Given the description of an element on the screen output the (x, y) to click on. 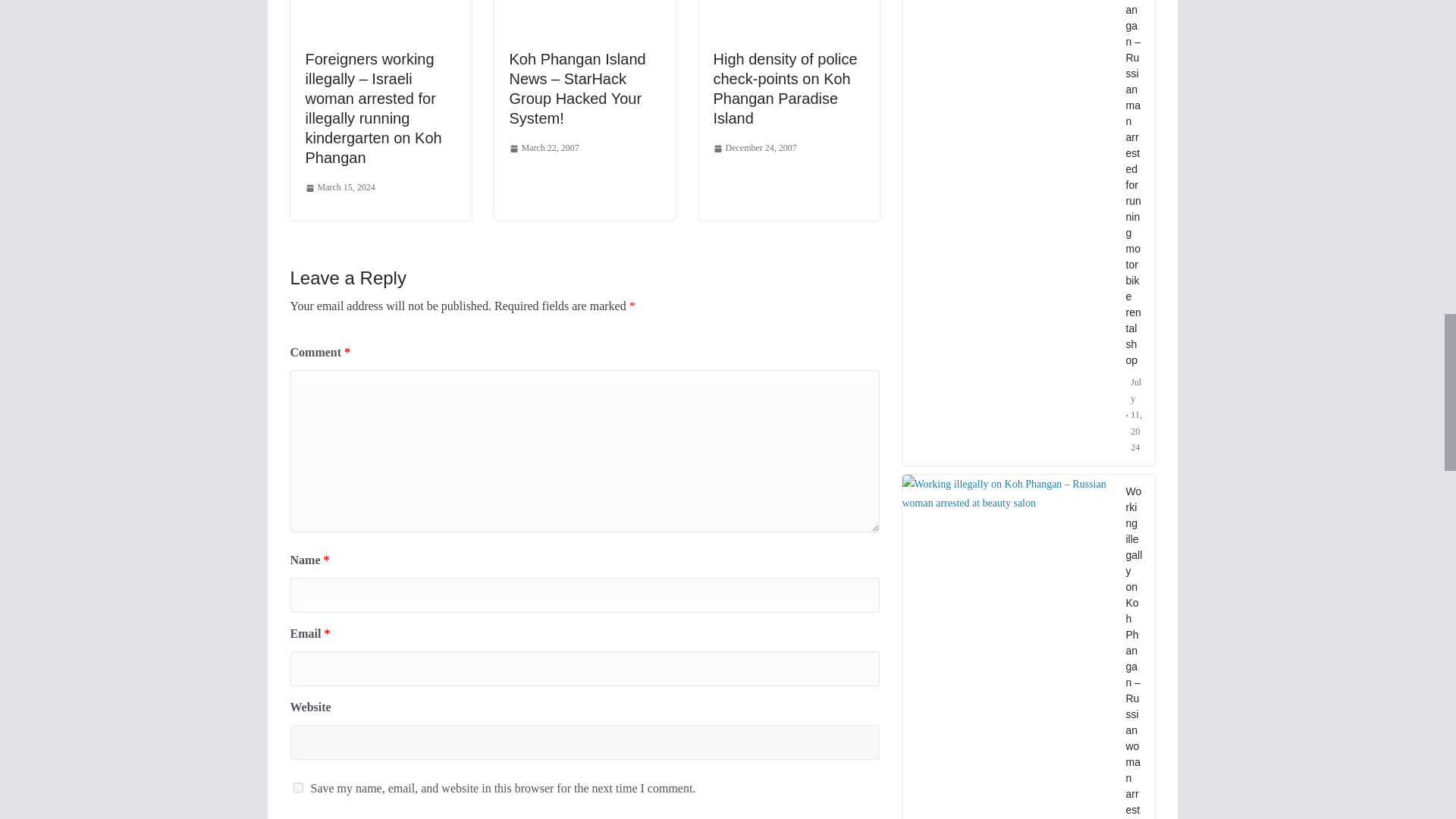
yes (297, 787)
